Given the description of an element on the screen output the (x, y) to click on. 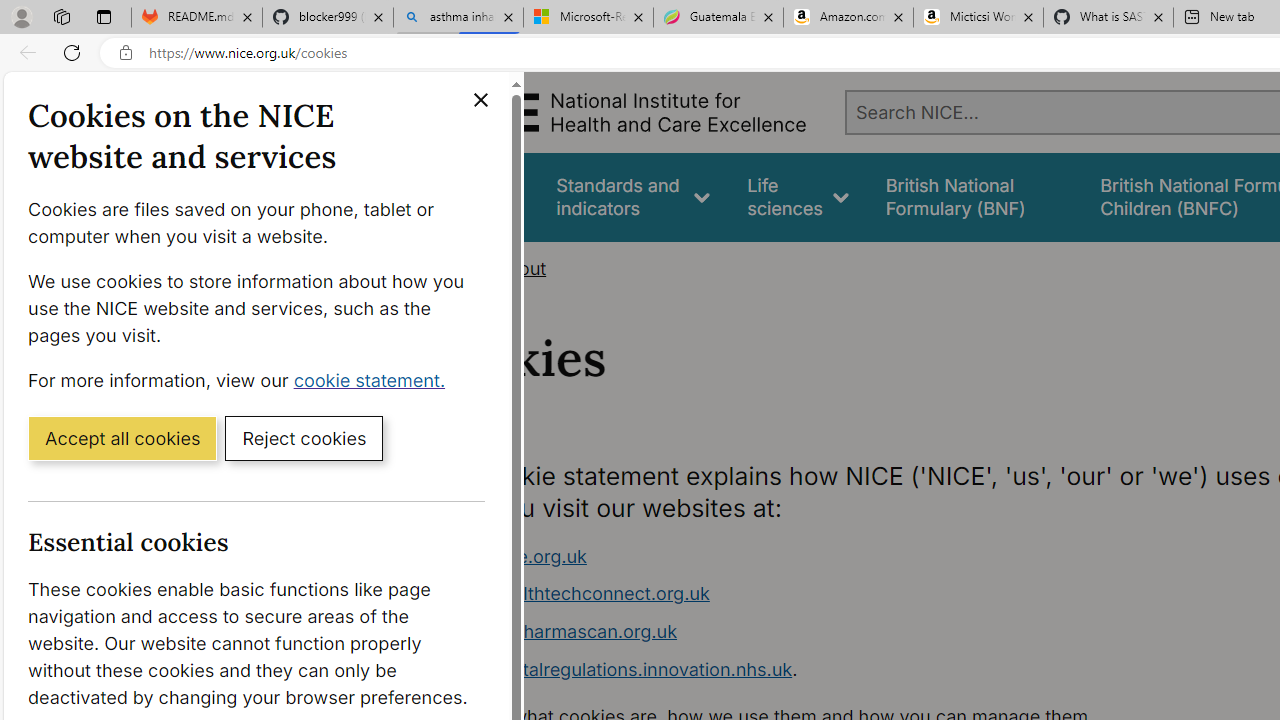
www.nice.org.uk (514, 556)
www.ukpharmascan.org.uk (560, 631)
Accept all cookies (122, 437)
